Given the description of an element on the screen output the (x, y) to click on. 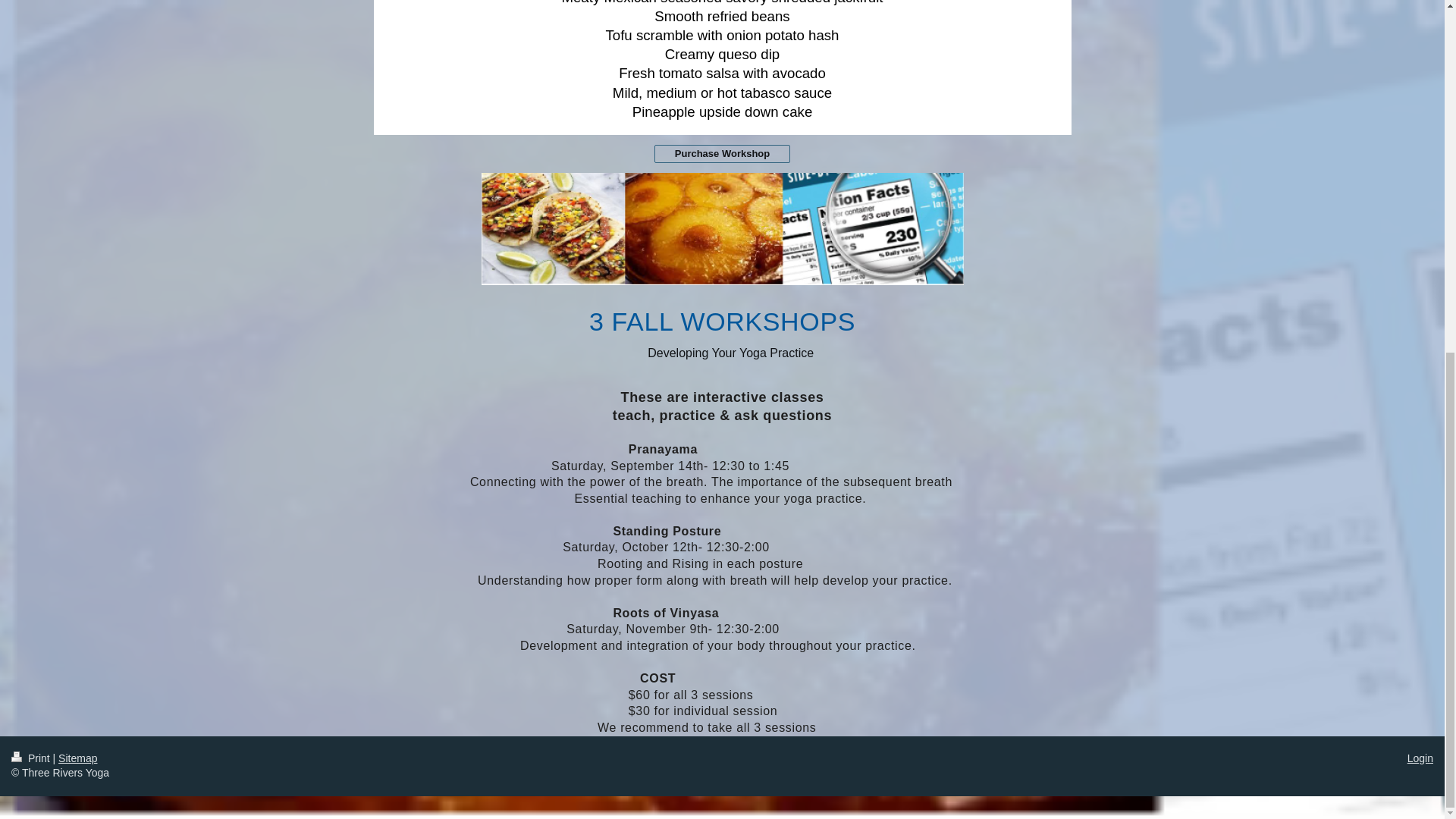
Sitemap (77, 758)
Login (1419, 758)
Purchase Workshop (721, 153)
Print (31, 758)
